Given the description of an element on the screen output the (x, y) to click on. 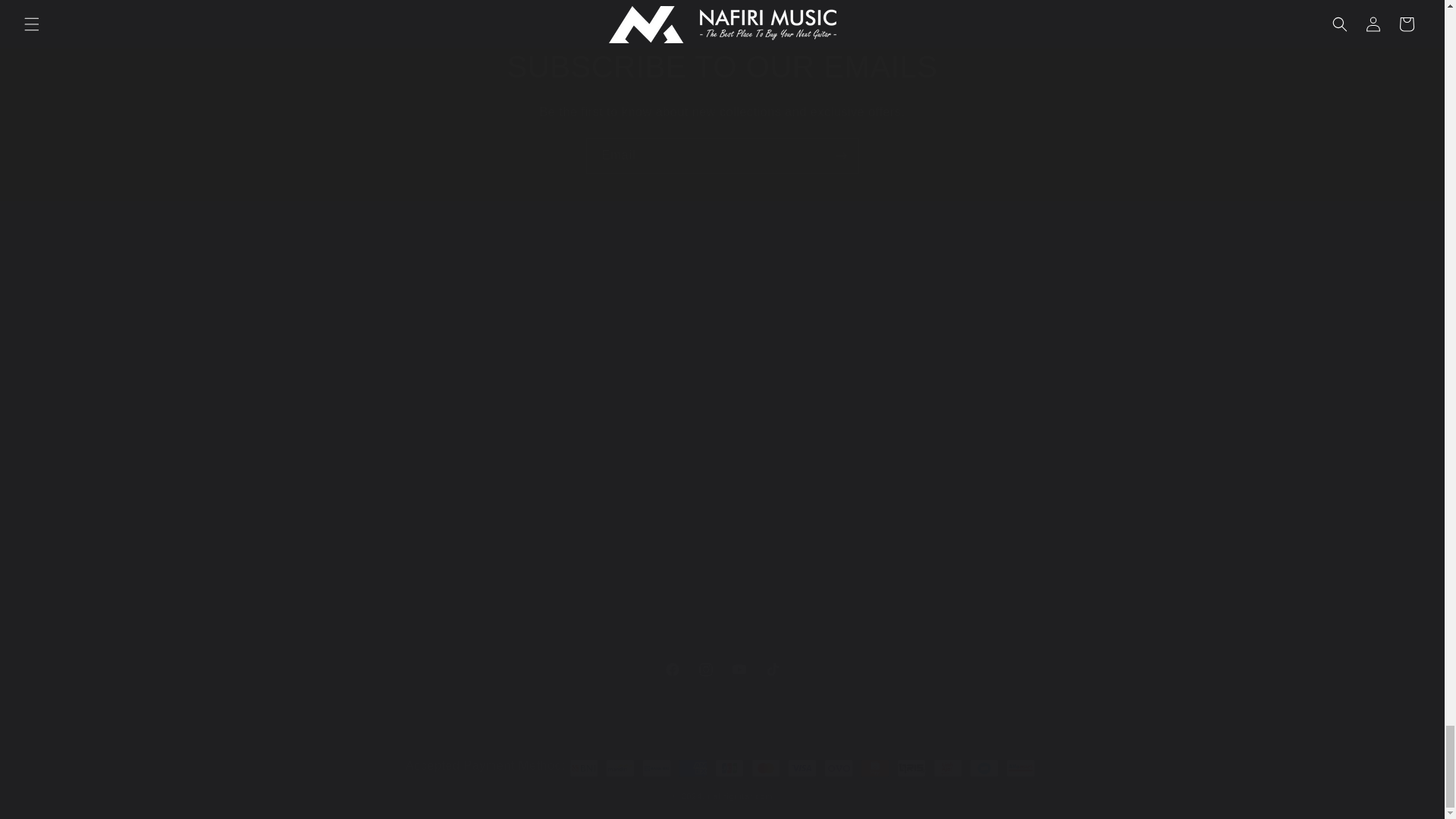
SUBSCRIBE TO OUR EMAILS (721, 669)
Select Language : (721, 66)
Email (433, 584)
